Given the description of an element on the screen output the (x, y) to click on. 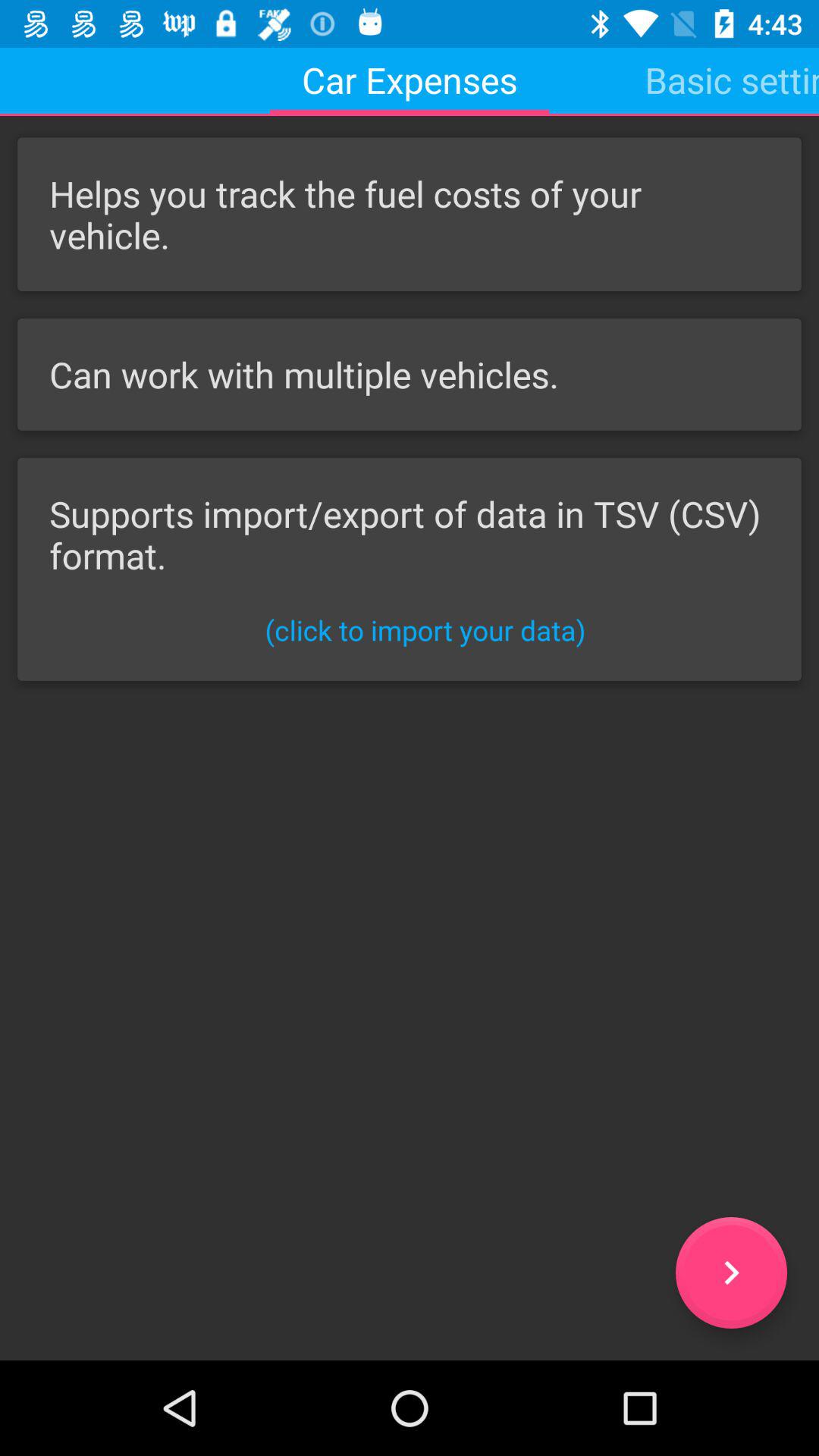
open icon next to car expenses item (731, 79)
